Given the description of an element on the screen output the (x, y) to click on. 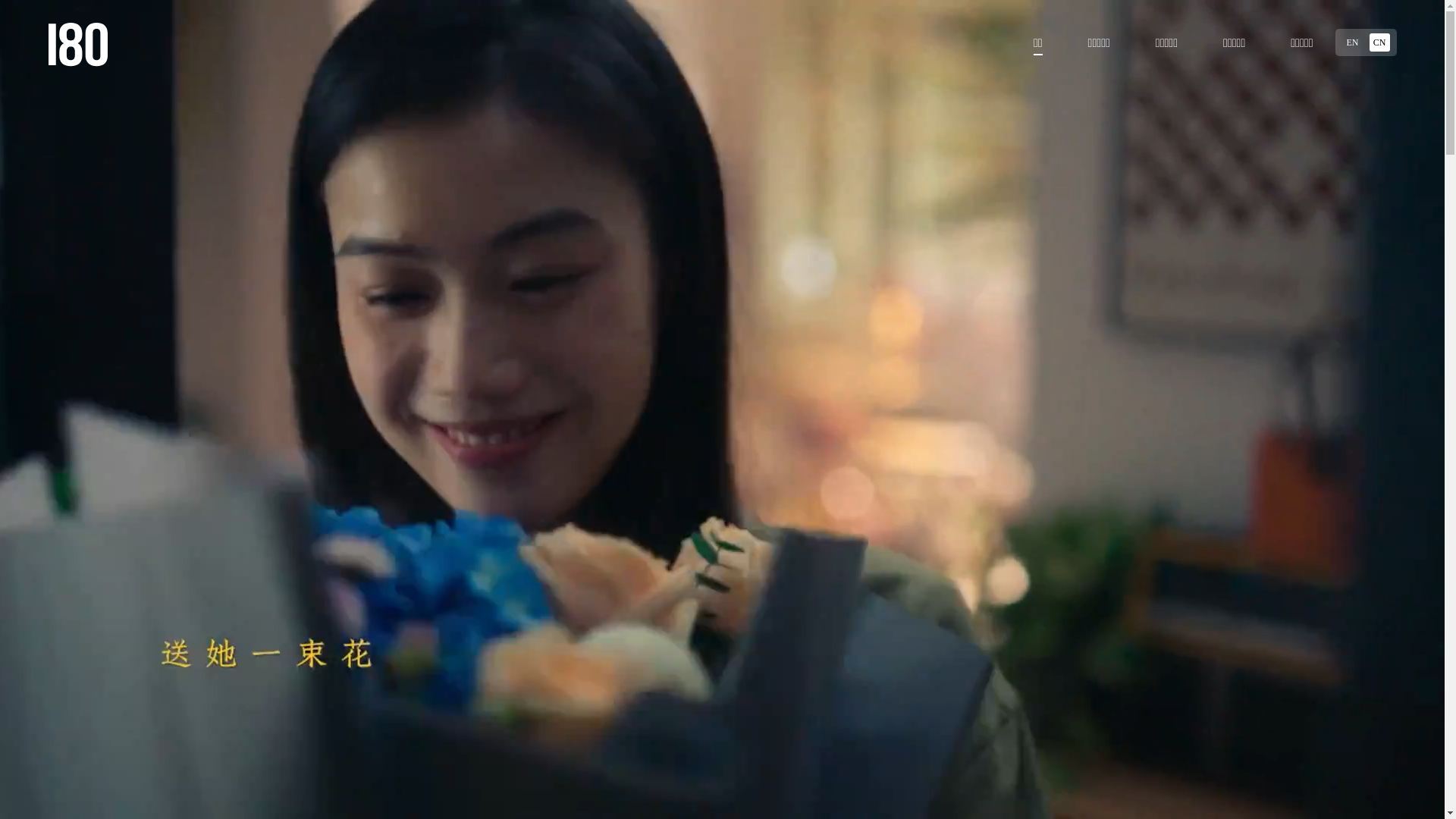
EN Element type: text (1351, 42)
CN Element type: text (1379, 42)
